Given the description of an element on the screen output the (x, y) to click on. 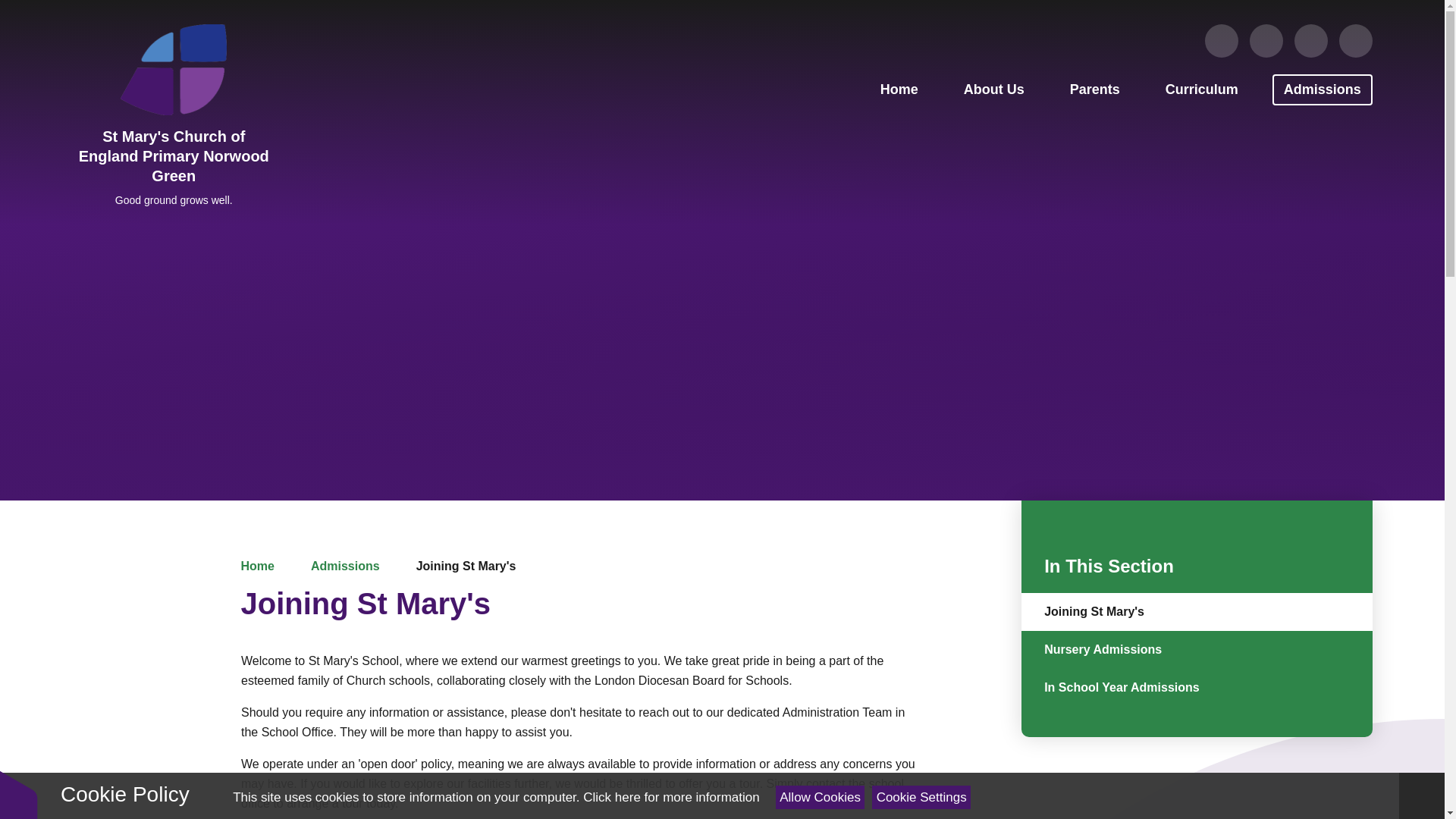
Curriculum (1201, 89)
Admissions (1322, 89)
Parents (1094, 89)
Home (899, 89)
About Us (993, 89)
